Given the description of an element on the screen output the (x, y) to click on. 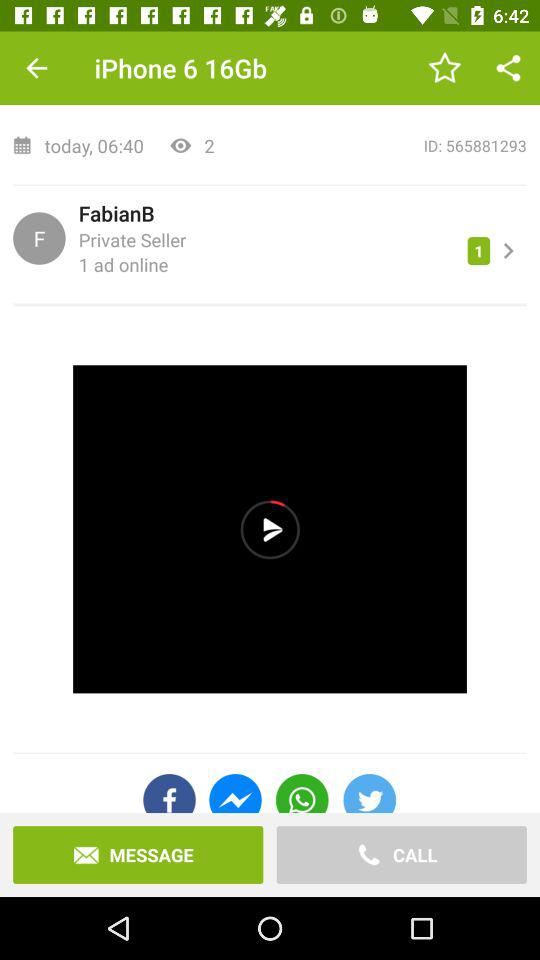
turn off the icon above the message icon (235, 793)
